Given the description of an element on the screen output the (x, y) to click on. 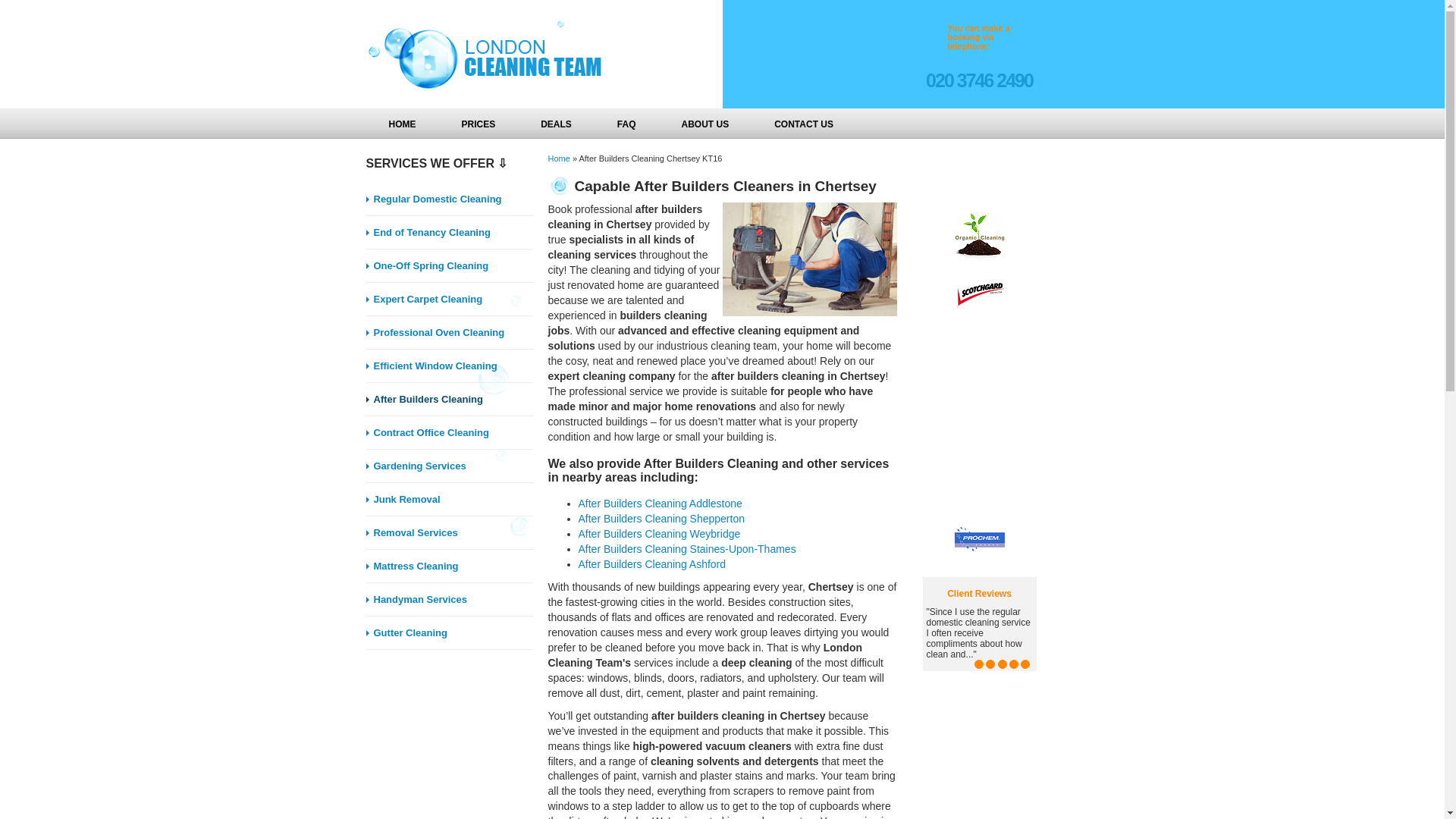
London Cleaning Team (478, 54)
Frequently Asked Questions (626, 123)
London Cleaning Team (489, 54)
Our Special Offers (556, 123)
Efficient Window Cleaning (448, 365)
ABOUT US (705, 123)
Handyman Services (448, 599)
Cleaning Services Prices (478, 123)
Gardening Services (448, 465)
FAQ (626, 123)
